Given the description of an element on the screen output the (x, y) to click on. 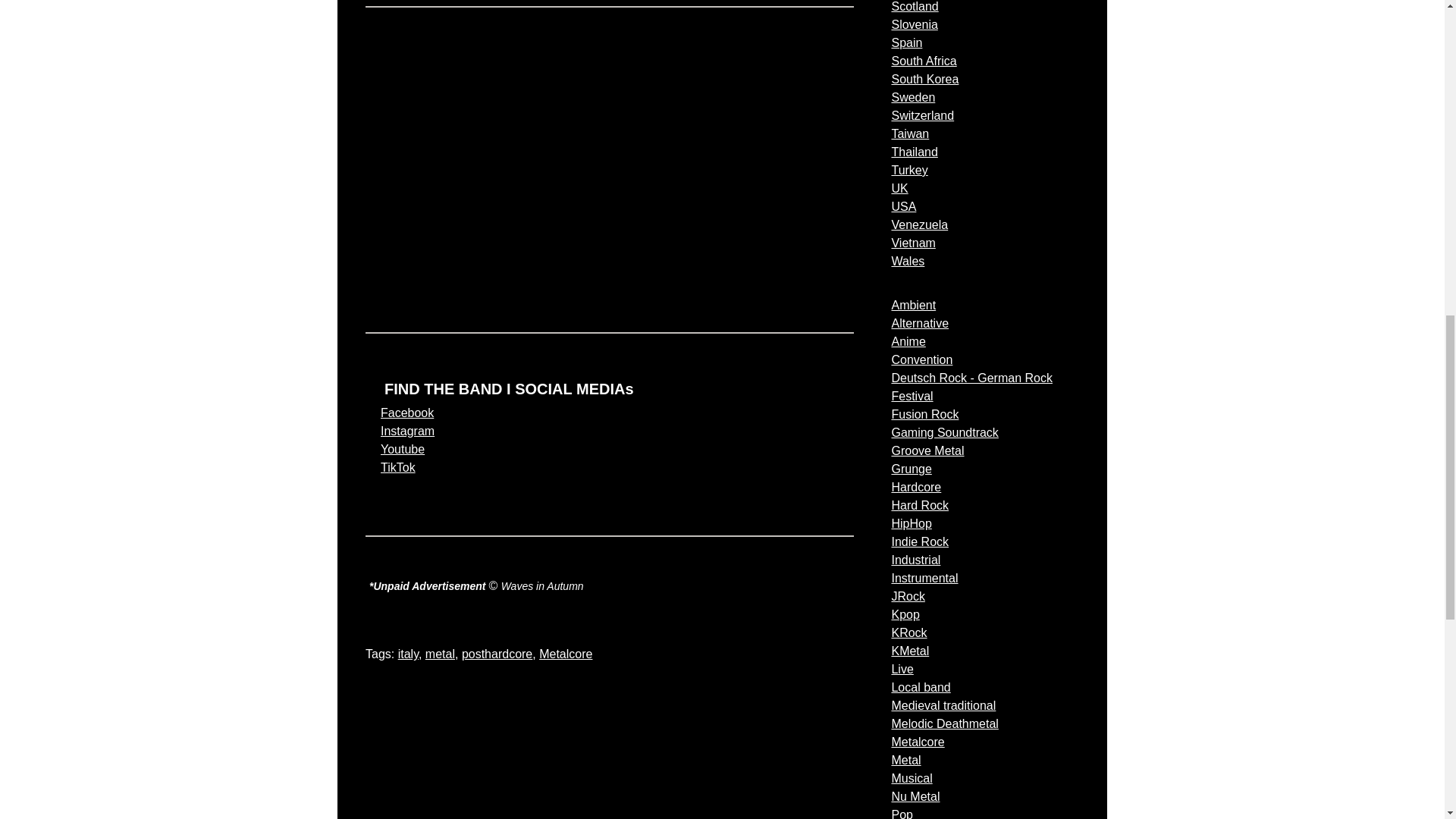
Instagram (406, 431)
Facebook (406, 412)
metal (439, 653)
TikTok (397, 467)
Metalcore (565, 653)
Youtube (402, 449)
posthardcore (496, 653)
italy (408, 653)
